Given the description of an element on the screen output the (x, y) to click on. 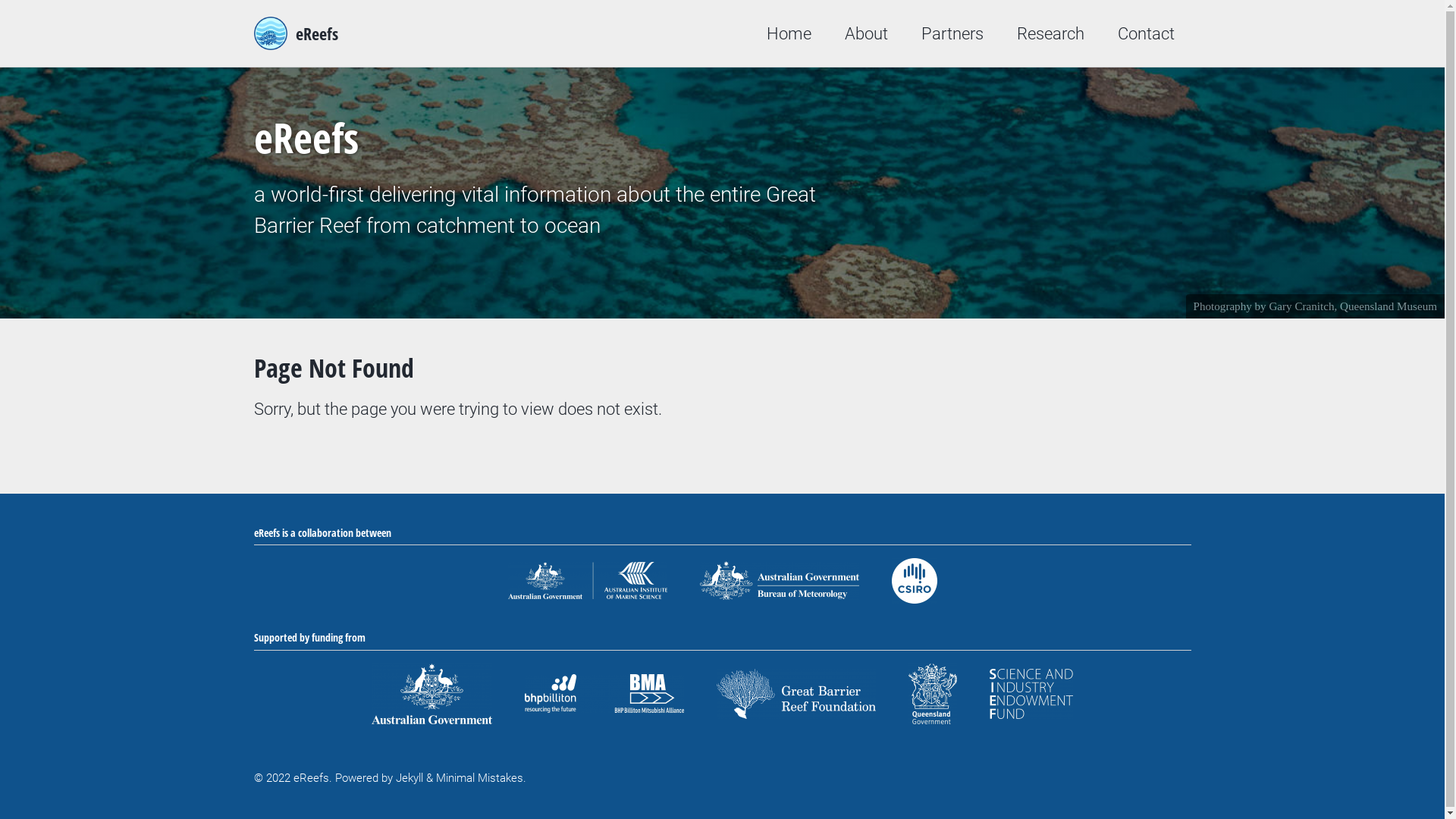
About Element type: text (866, 33)
Partners Element type: text (951, 33)
Contact Element type: text (1145, 33)
Jekyll Element type: text (409, 777)
Research Element type: text (1049, 33)
eReefs Element type: text (316, 33)
Skip to primary navigation Element type: text (0, 0)
Home Element type: text (787, 33)
Minimal Mistakes Element type: text (478, 777)
